Given the description of an element on the screen output the (x, y) to click on. 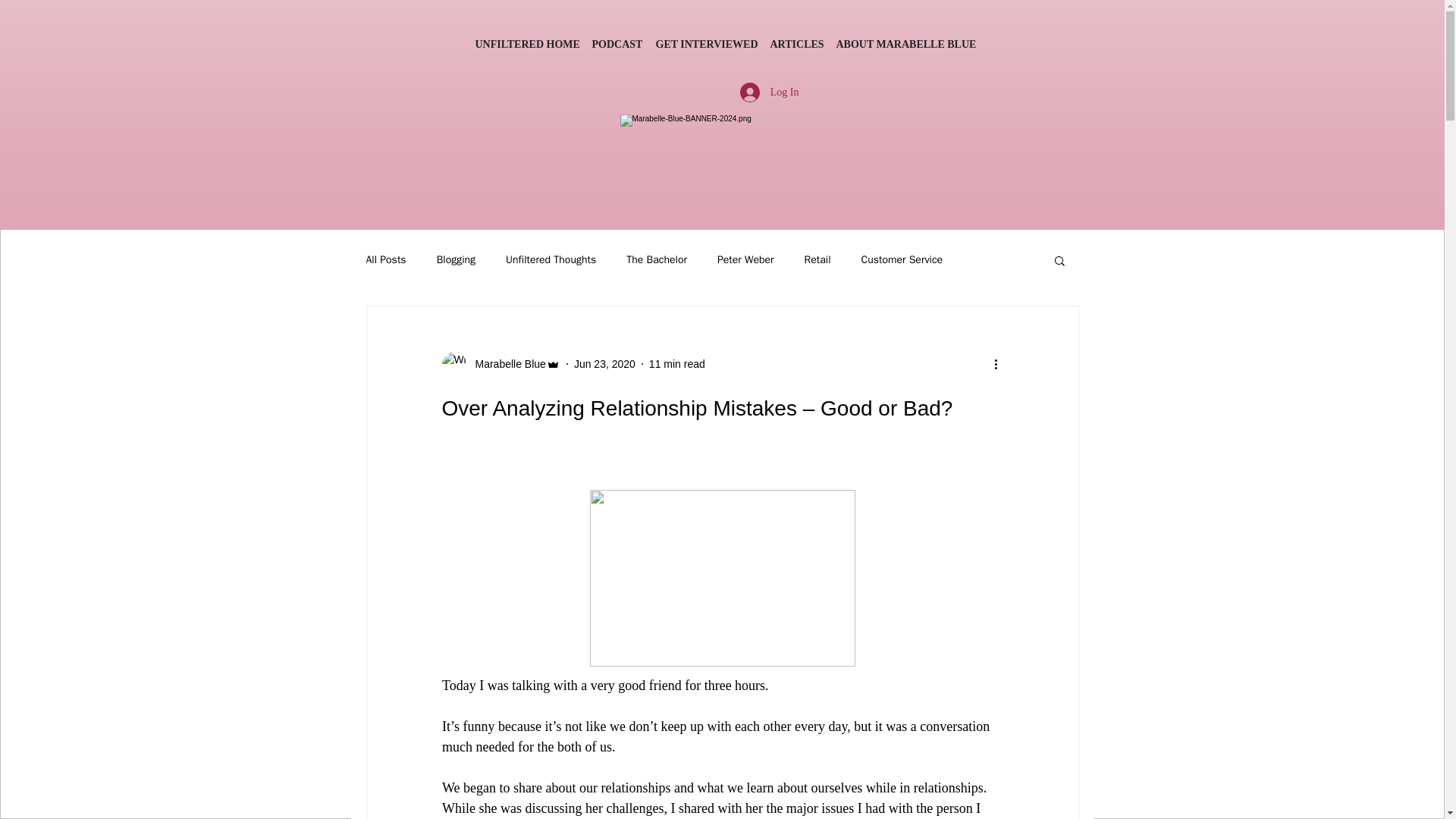
ARTICLES (795, 44)
Marabelle Blue (504, 364)
11 min read (676, 363)
Customer Service (902, 259)
Peter Weber (745, 259)
All Posts (385, 259)
GET INTERVIEWED (704, 44)
Retail (818, 259)
UNFILTERED HOME (525, 44)
Jun 23, 2020 (603, 363)
